Given the description of an element on the screen output the (x, y) to click on. 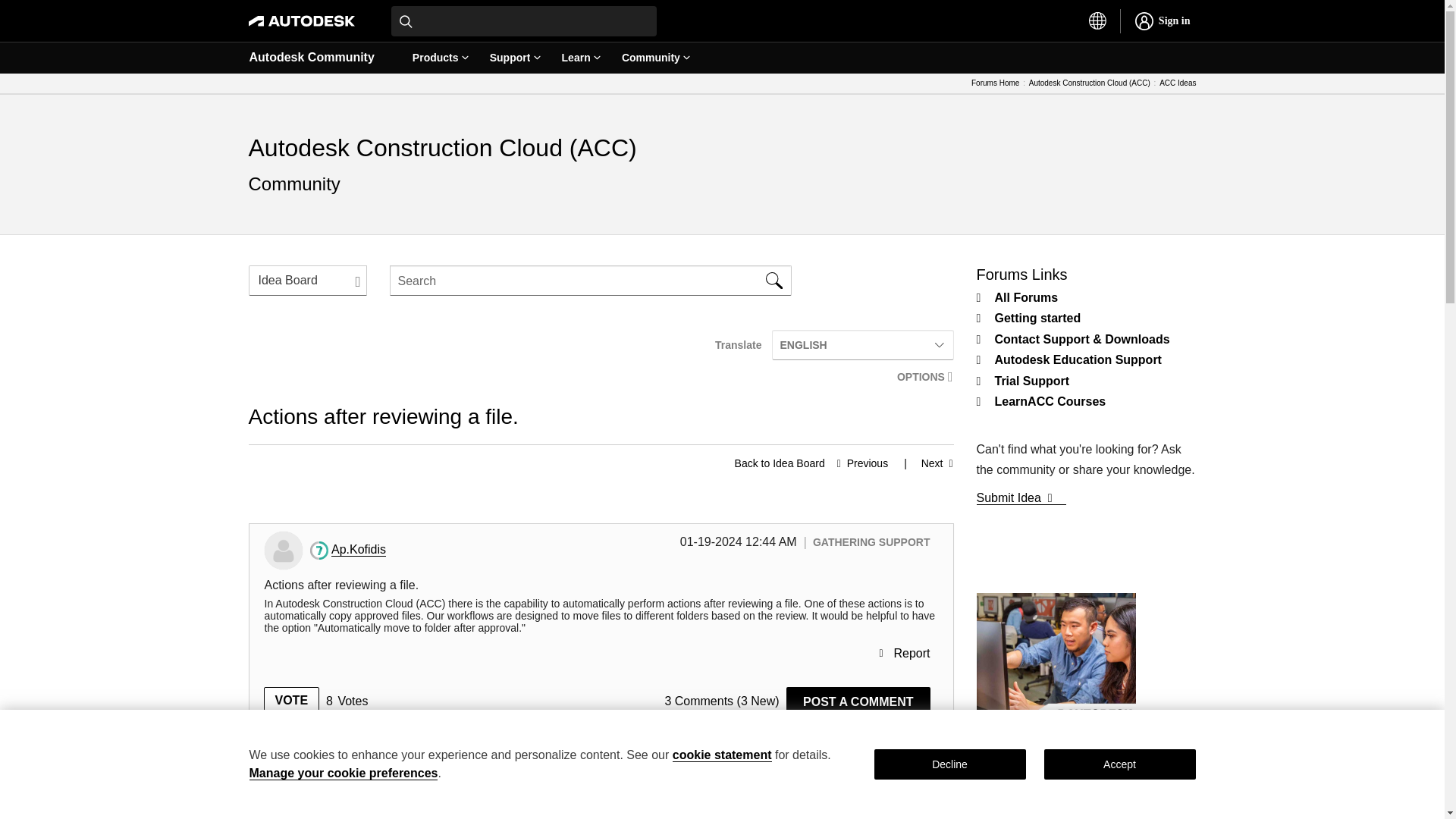
Search Granularity (307, 280)
Autodesk Community (311, 57)
Search (591, 280)
Search (774, 280)
Autodesk (301, 20)
ACC Ideas (779, 462)
Search (774, 280)
Show option menu (919, 376)
Ap.Kofidis (282, 550)
